Given the description of an element on the screen output the (x, y) to click on. 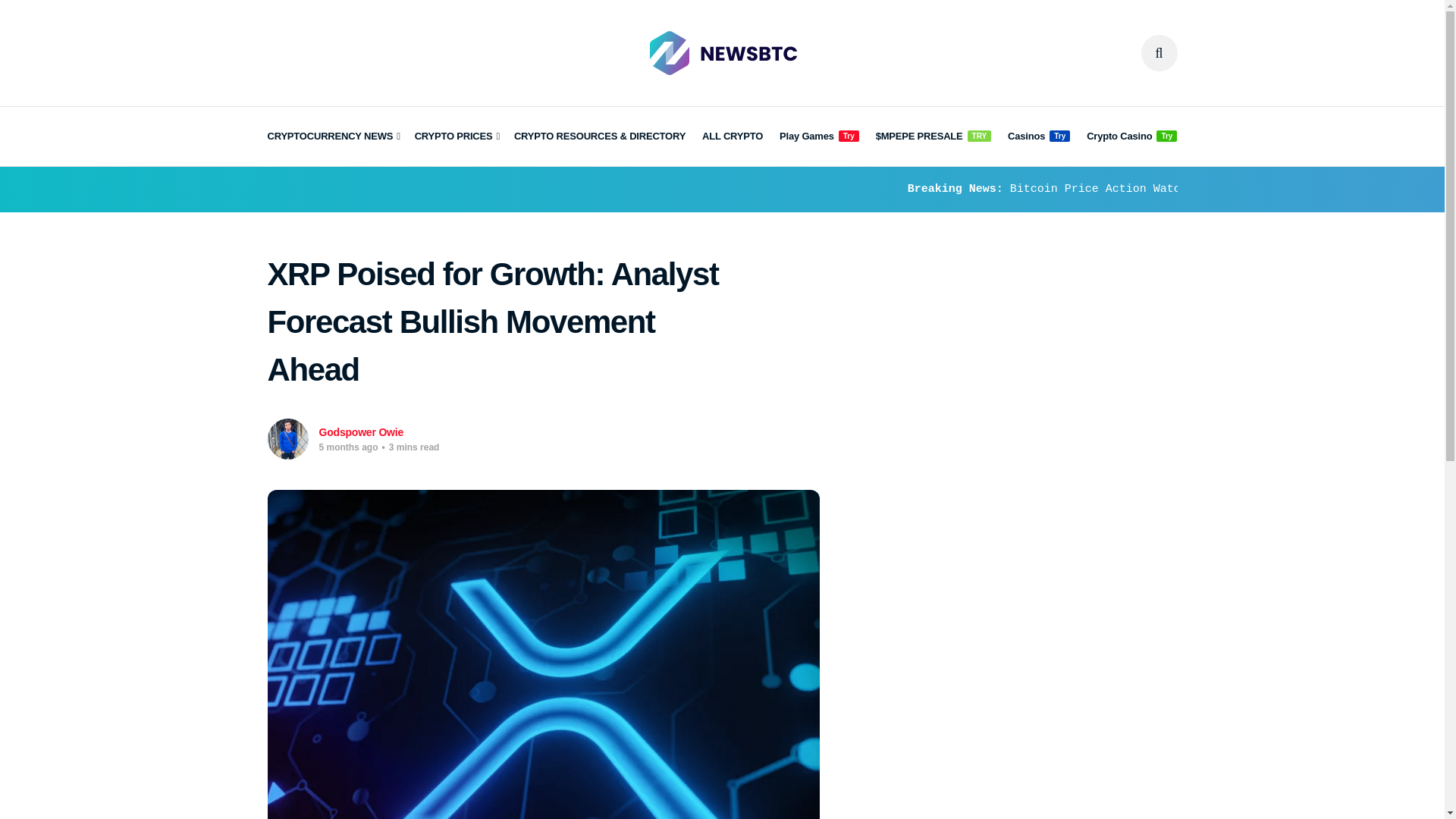
CRYPTOCURRENCY NEWS (331, 136)
CRYPTO PRICES (455, 136)
ALL CRYPTO (731, 136)
